Given the description of an element on the screen output the (x, y) to click on. 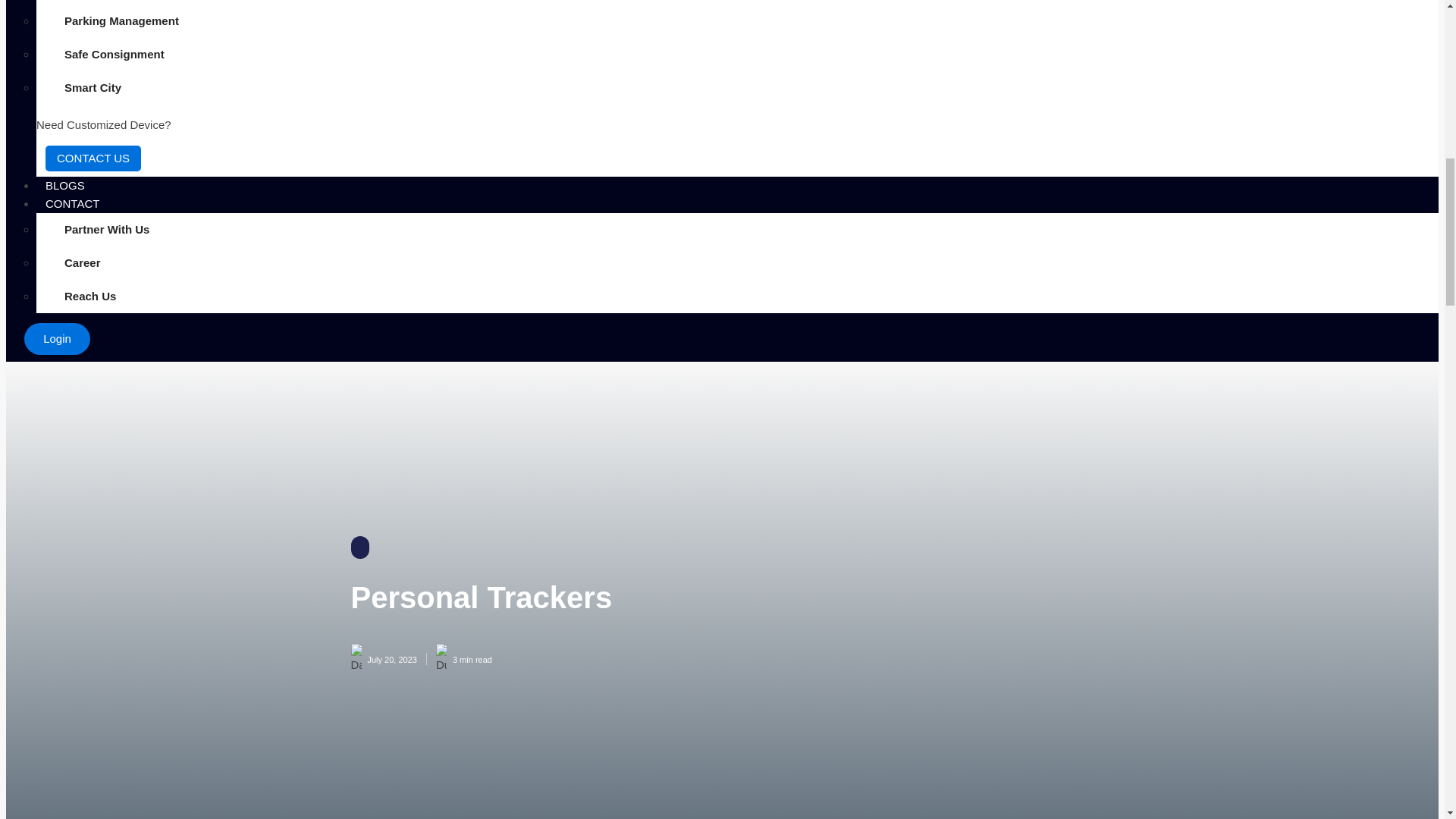
Parking Management (121, 20)
Career (82, 263)
Safe Consignment (114, 54)
Reach Us (90, 296)
CONTACT US (93, 158)
Smart City (92, 87)
Partner With Us (106, 229)
School Buddy (102, 2)
CONTACT (72, 203)
Login (57, 338)
